Given the description of an element on the screen output the (x, y) to click on. 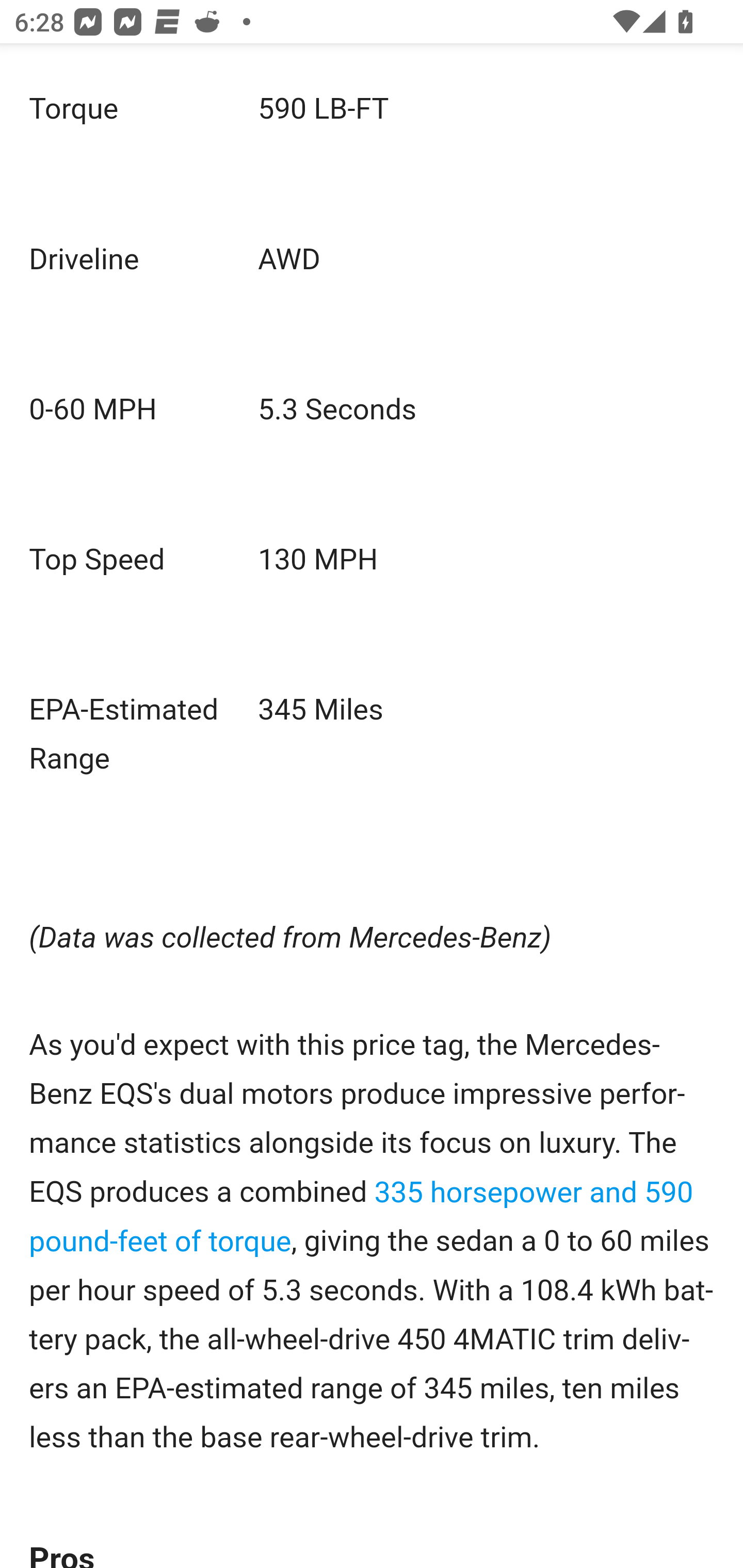
335 horsepower and 590 pound-feet of torque (361, 1217)
